Given the description of an element on the screen output the (x, y) to click on. 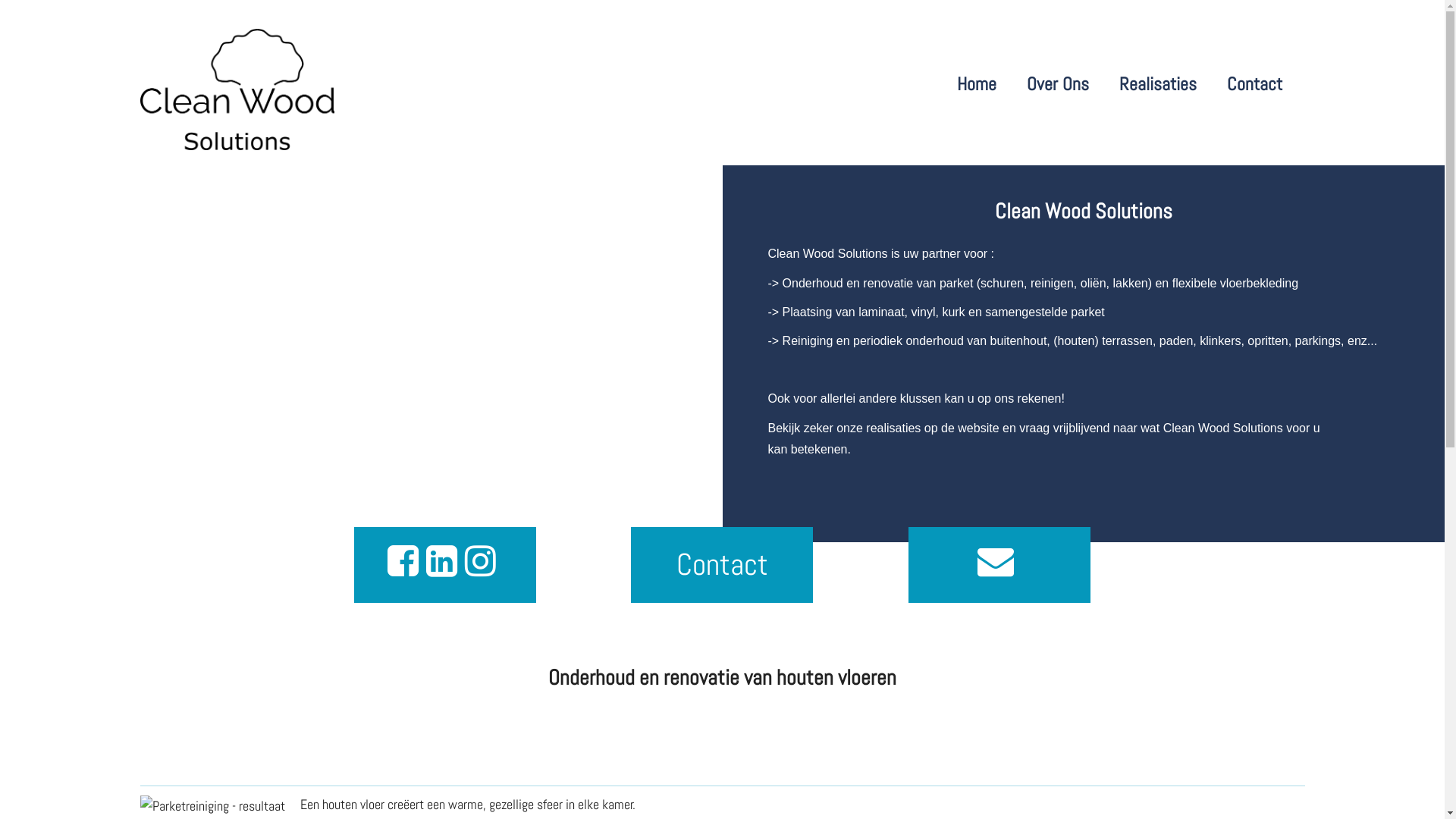
Contact Element type: text (722, 564)
Realisaties Element type: text (1157, 83)
Home Element type: text (976, 83)
Over Ons Element type: text (1057, 83)
Contact Element type: text (1254, 83)
Overslaan en naar de inhoud gaan Element type: text (0, 0)
